Given the description of an element on the screen output the (x, y) to click on. 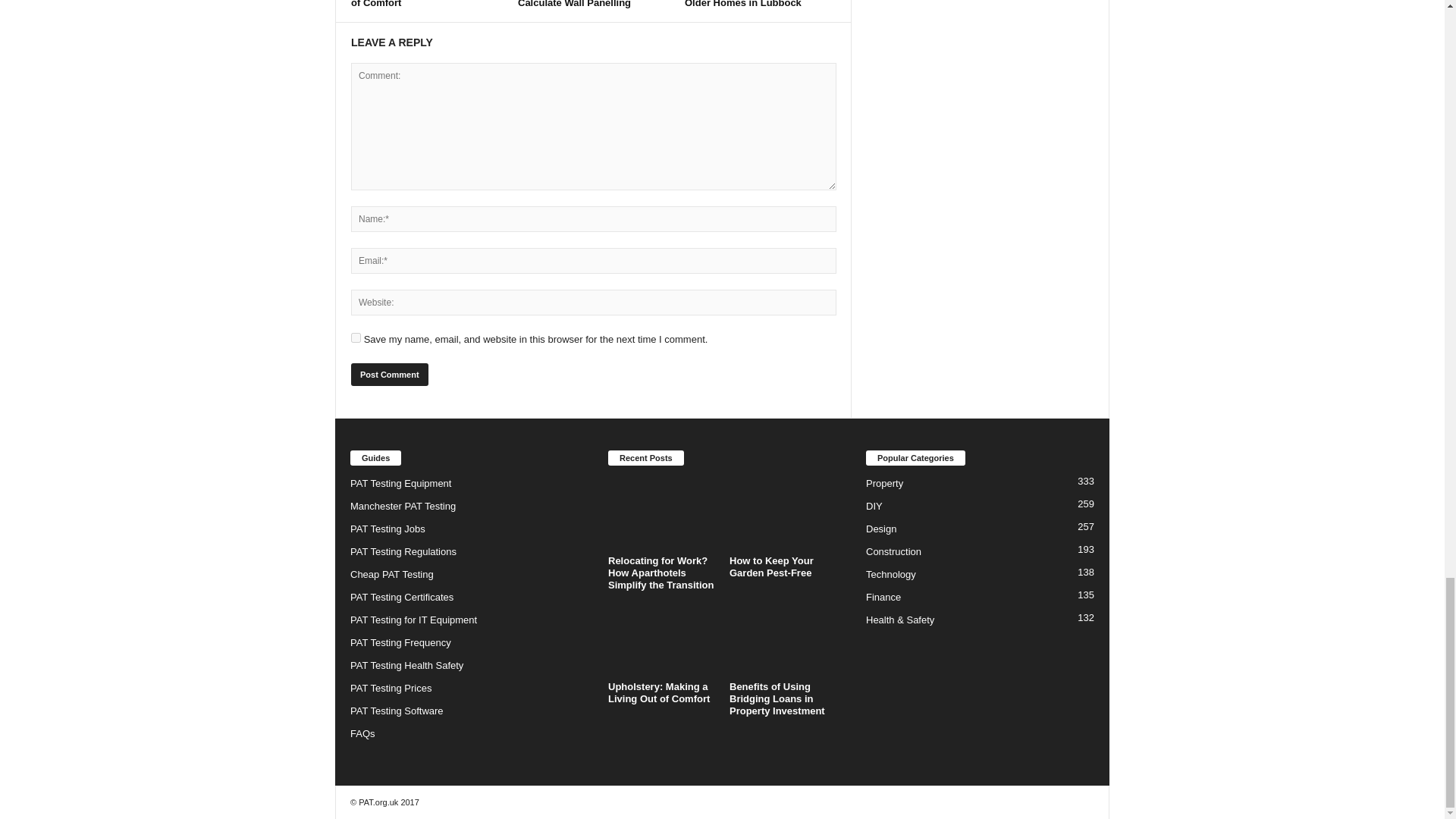
Our Step-By-Step Guide to Calculate Wall Panelling (580, 4)
yes (355, 337)
Effective Staging Strategies for Older Homes in Lubbock (757, 4)
Post Comment (389, 374)
